Given the description of an element on the screen output the (x, y) to click on. 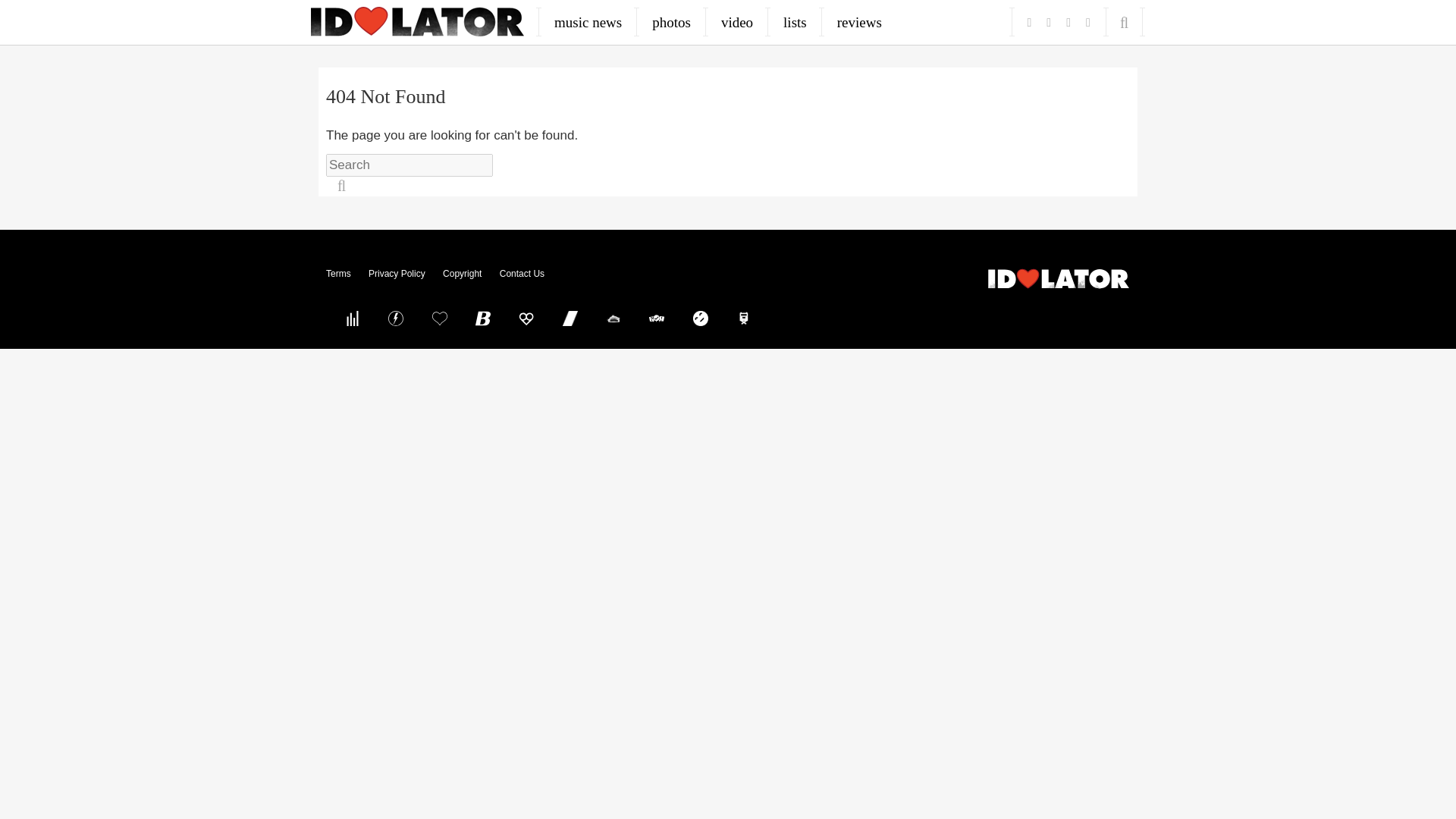
music news (587, 22)
Pure Volume (351, 318)
Hooch (526, 318)
photos (671, 22)
Explored Hollywood (743, 318)
video (737, 22)
Copyright (461, 273)
Terms (338, 273)
Daily Funny (699, 318)
Quizscape (656, 318)
